Given the description of an element on the screen output the (x, y) to click on. 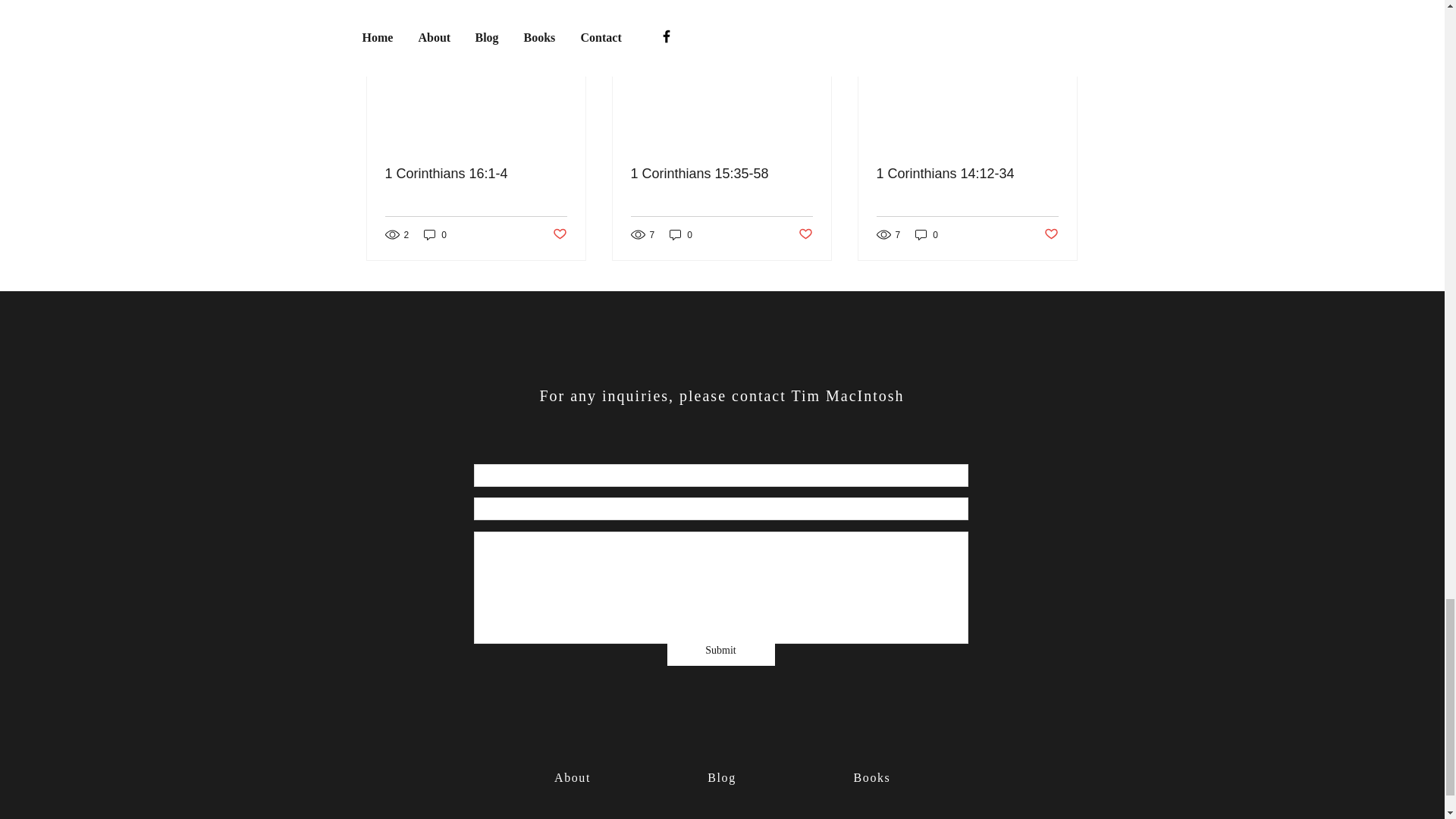
1 Corinthians 14:12-34 (967, 173)
Post not marked as liked (804, 234)
0 (681, 234)
Submit (720, 650)
Post not marked as liked (1050, 234)
Books (872, 777)
Blog (721, 777)
1 Corinthians 15:35-58 (721, 173)
Post not marked as liked (558, 234)
1 Corinthians 16:1-4 (476, 173)
0 (926, 234)
See All (1061, 4)
About (572, 777)
0 (435, 234)
